Given the description of an element on the screen output the (x, y) to click on. 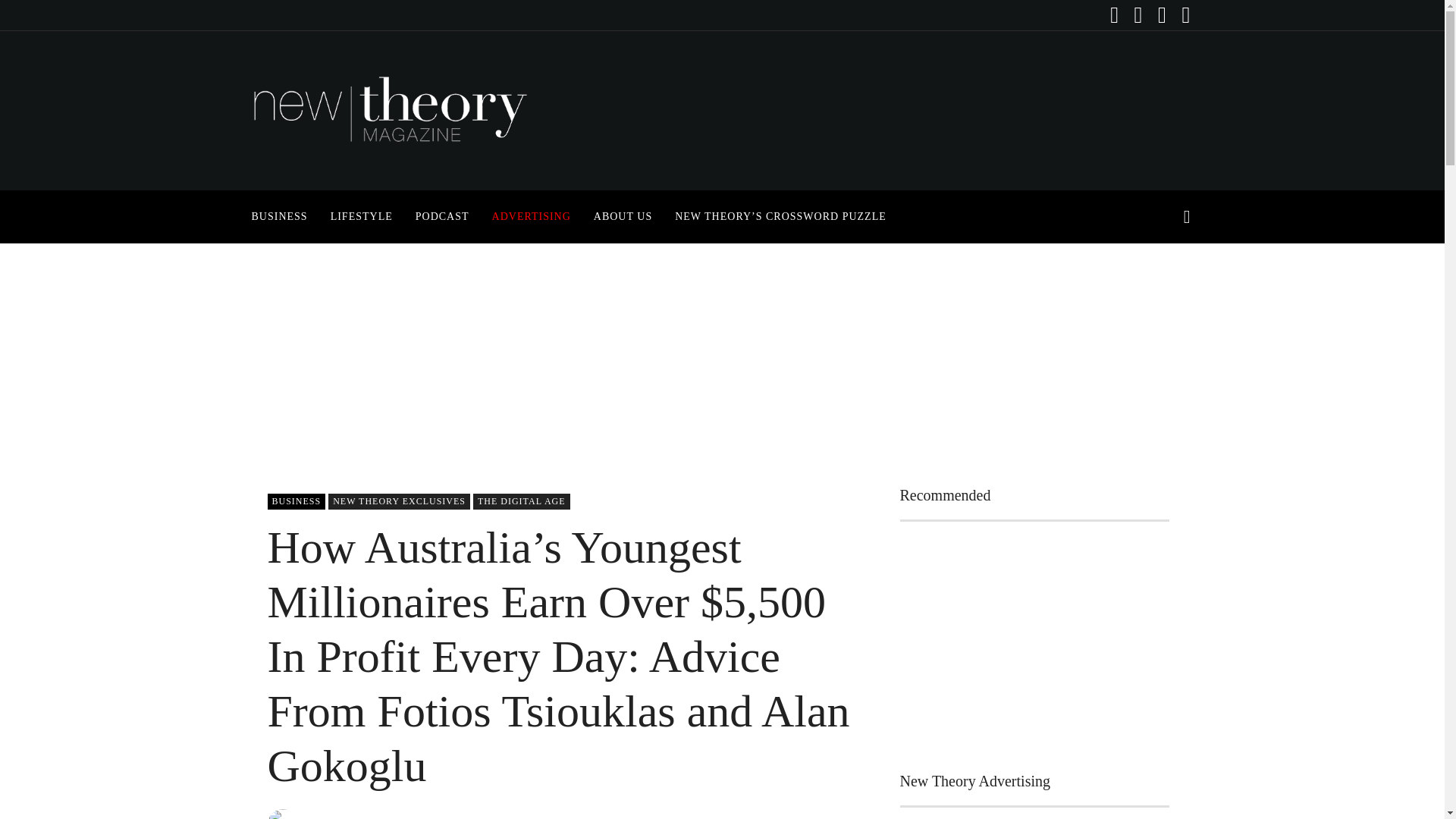
View all posts in 3845 (295, 501)
View all posts in 152 (521, 501)
View all posts in 923 (399, 501)
